Given the description of an element on the screen output the (x, y) to click on. 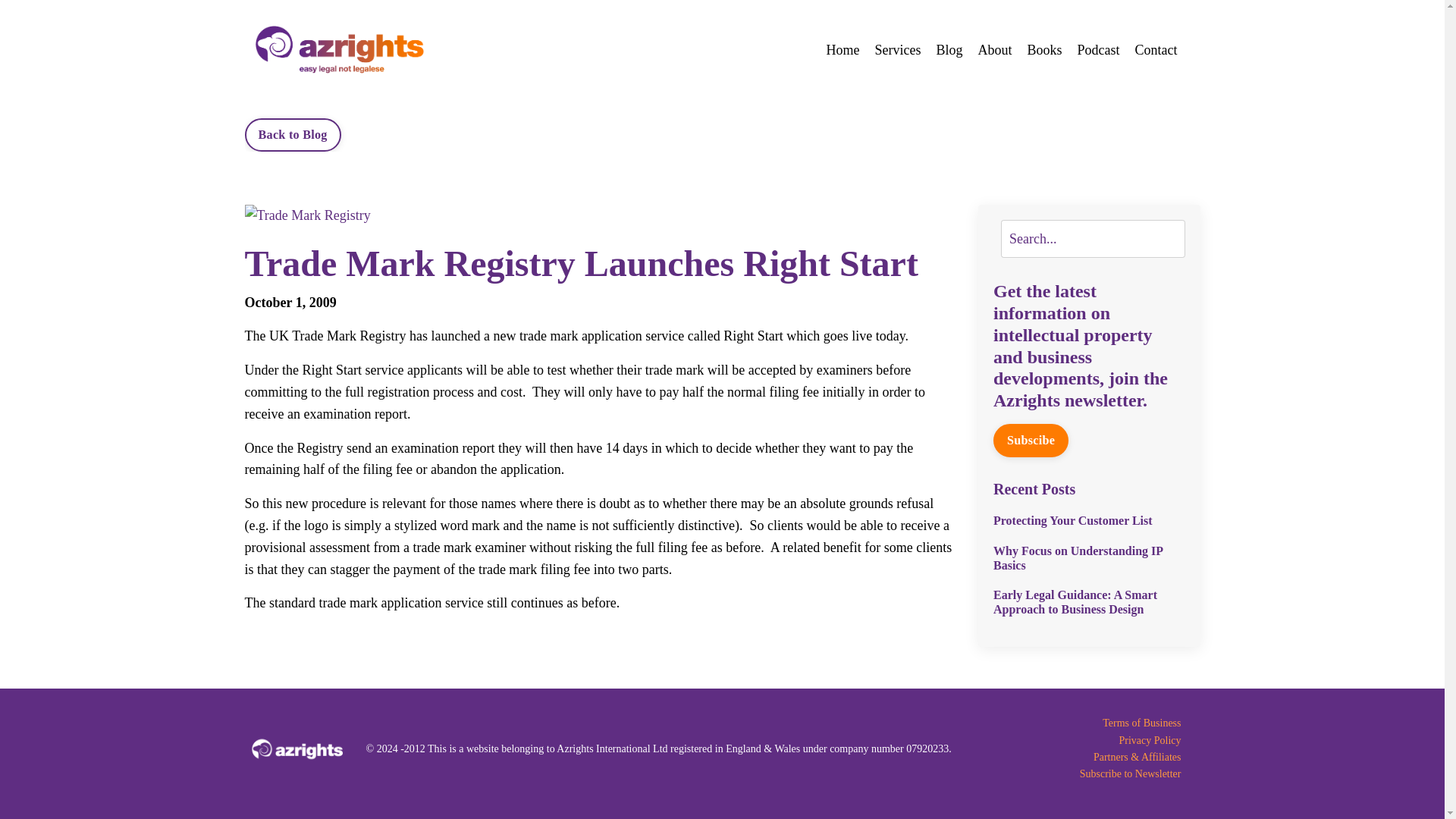
Why Focus on Understanding IP Basics (1088, 557)
Back to Blog (292, 134)
Protecting Your Customer List (1088, 520)
Terms of Business (1079, 723)
Subscribe to Newsletter (1079, 773)
About (993, 50)
Early Legal Guidance: A Smart Approach to Business Design (1088, 602)
Books (1043, 50)
Podcast (1098, 50)
Contact (1155, 50)
Subscibe (1030, 440)
Home (842, 50)
Privacy Policy (1079, 740)
Blog (949, 50)
Services (897, 50)
